Given the description of an element on the screen output the (x, y) to click on. 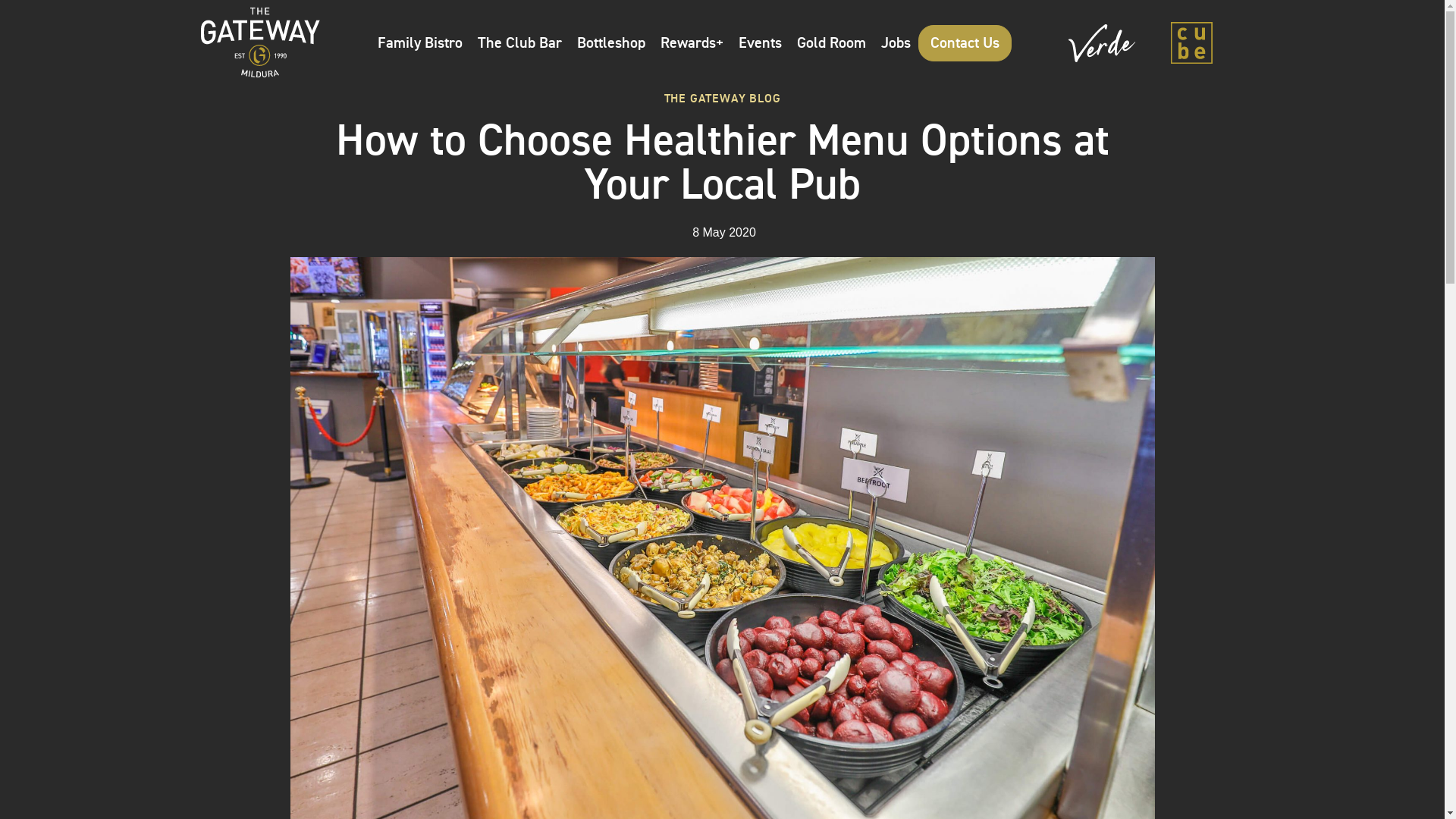
The Club Bar Element type: text (519, 42)
Jobs Element type: text (895, 42)
Contact Us Element type: text (964, 42)
Bottleshop Element type: text (610, 42)
Family Bistro Element type: text (420, 42)
Rewards+ Element type: text (691, 42)
Gold Room Element type: text (831, 42)
Events Element type: text (760, 42)
